Given the description of an element on the screen output the (x, y) to click on. 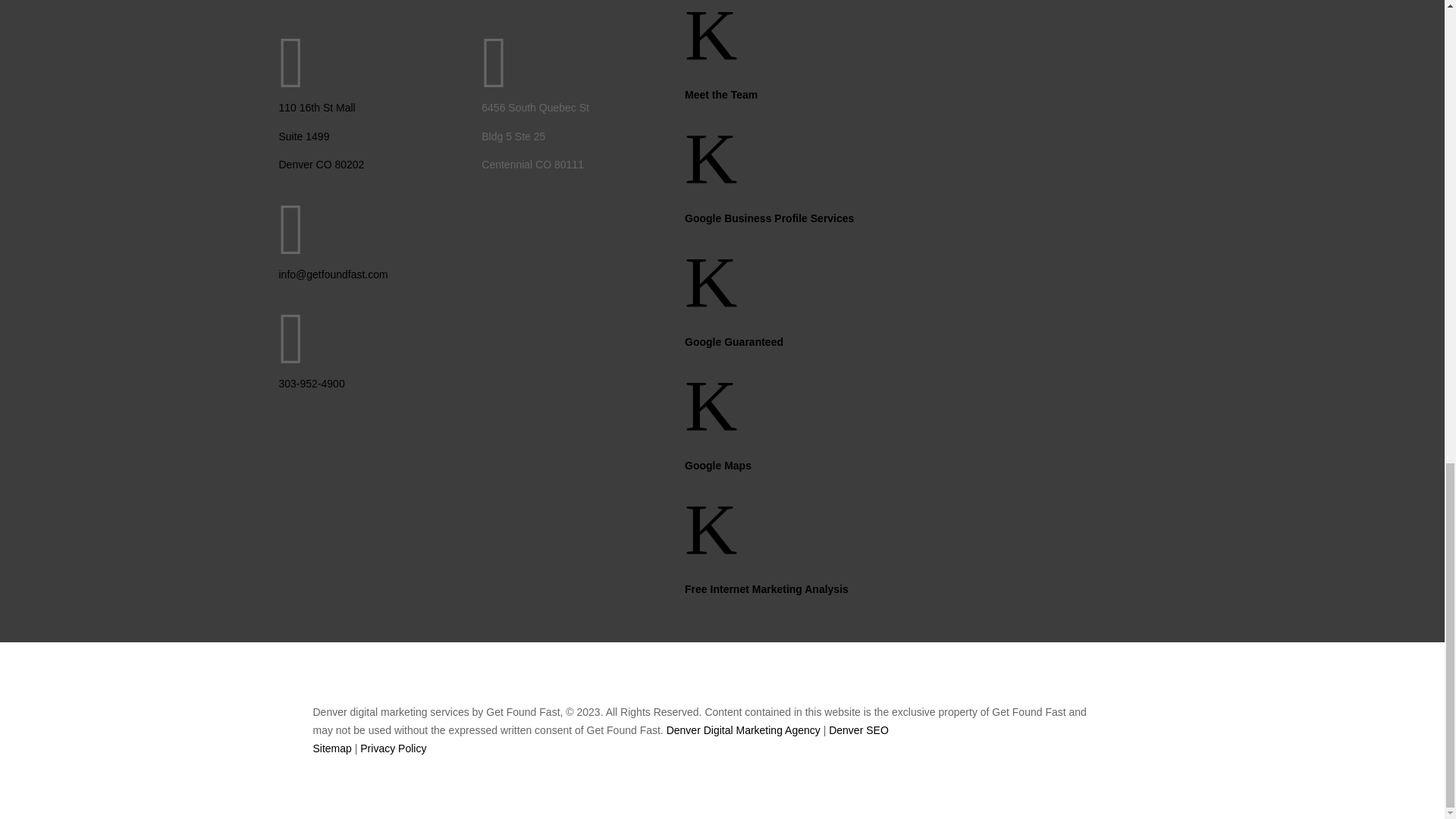
Denver Digital Marketing Agency (743, 729)
K (710, 179)
Privacy Policy (392, 748)
Free Internet Marketing Analysis (766, 589)
Meet the Team (720, 94)
Denver CO 80202 (322, 164)
K (710, 426)
Google Maps (717, 465)
Sitemap (331, 748)
Denver SEO (858, 729)
